Given the description of an element on the screen output the (x, y) to click on. 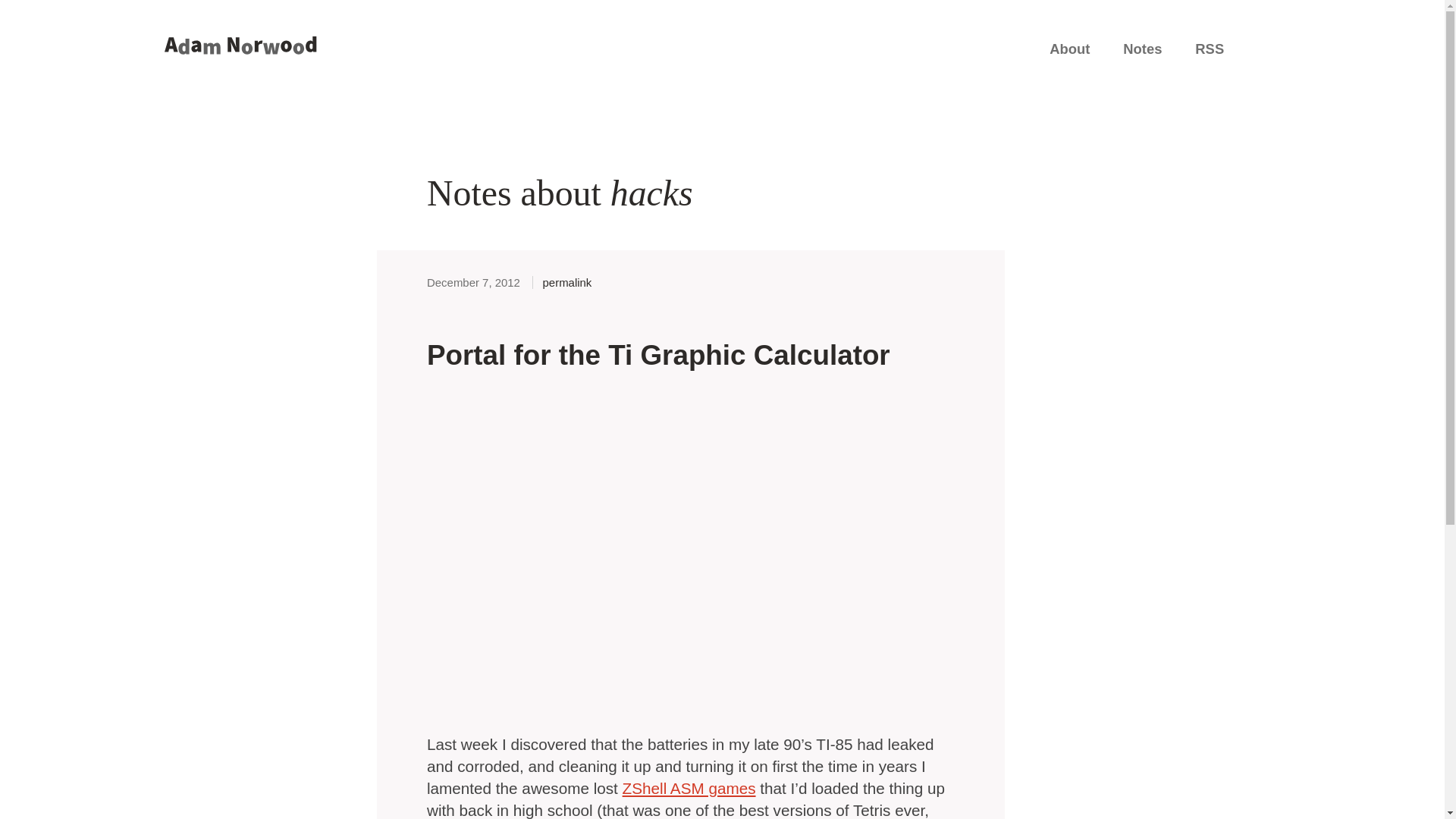
About (1069, 48)
RSS (1209, 48)
Portal for the Ti Graphic Calculator (657, 355)
permalink (561, 282)
Notes (1141, 48)
Search (1268, 44)
Search (1268, 47)
ZShell ASM games (689, 787)
